Given the description of an element on the screen output the (x, y) to click on. 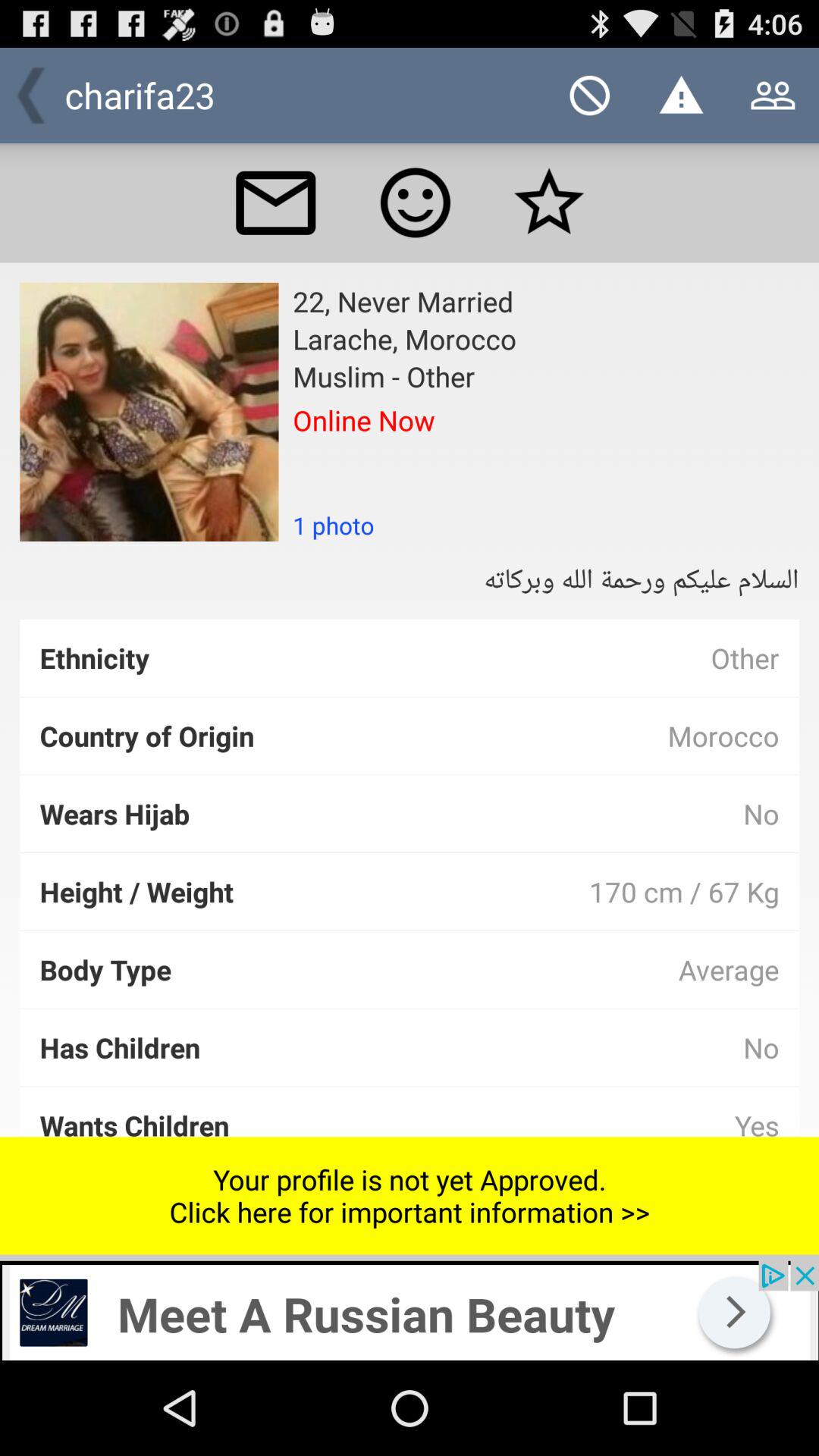
profile box (148, 411)
